Given the description of an element on the screen output the (x, y) to click on. 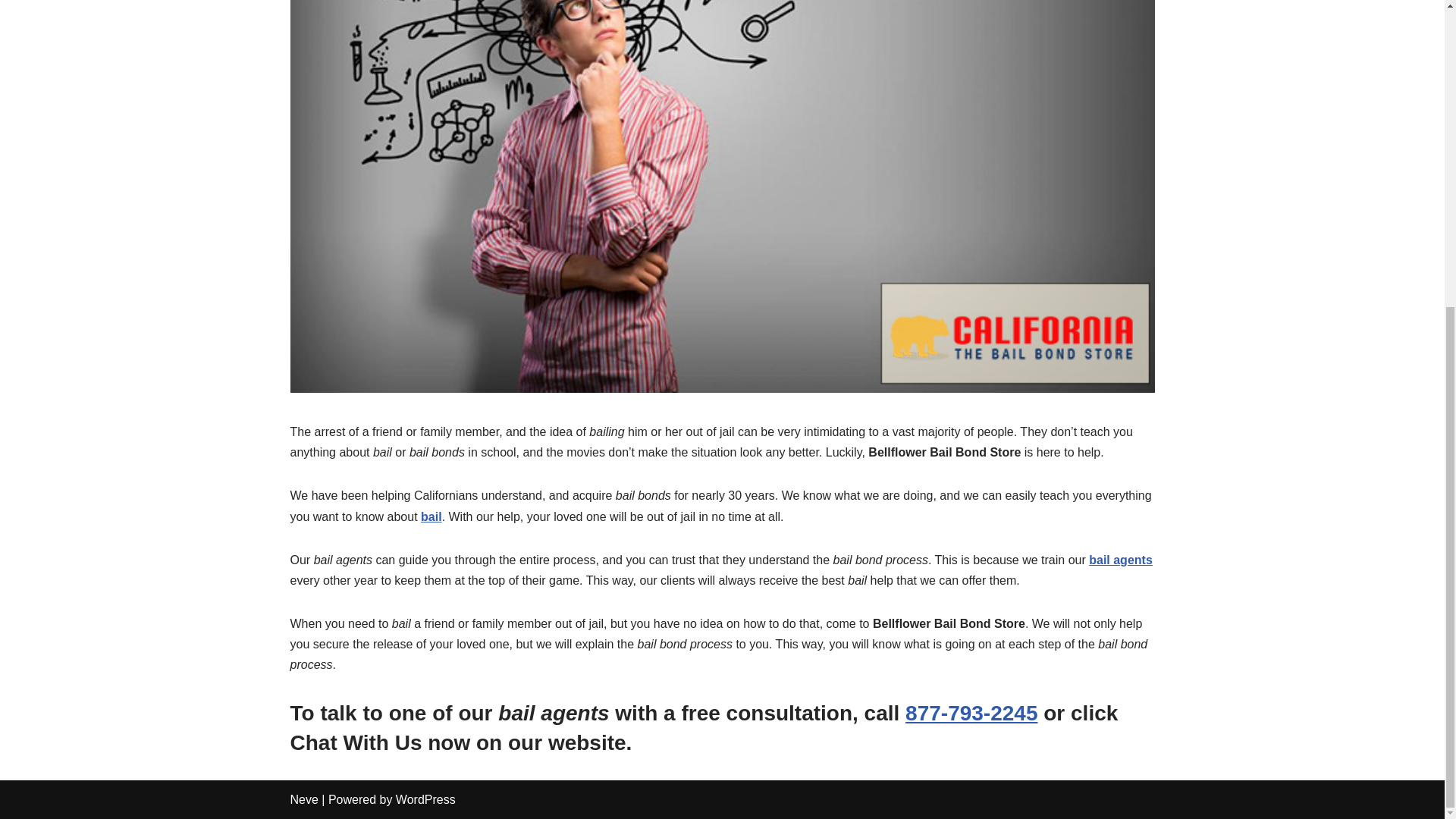
Neve (303, 799)
WordPress (425, 799)
877-793-2245 (970, 712)
bail (431, 516)
bail agents (1121, 559)
